Given the description of an element on the screen output the (x, y) to click on. 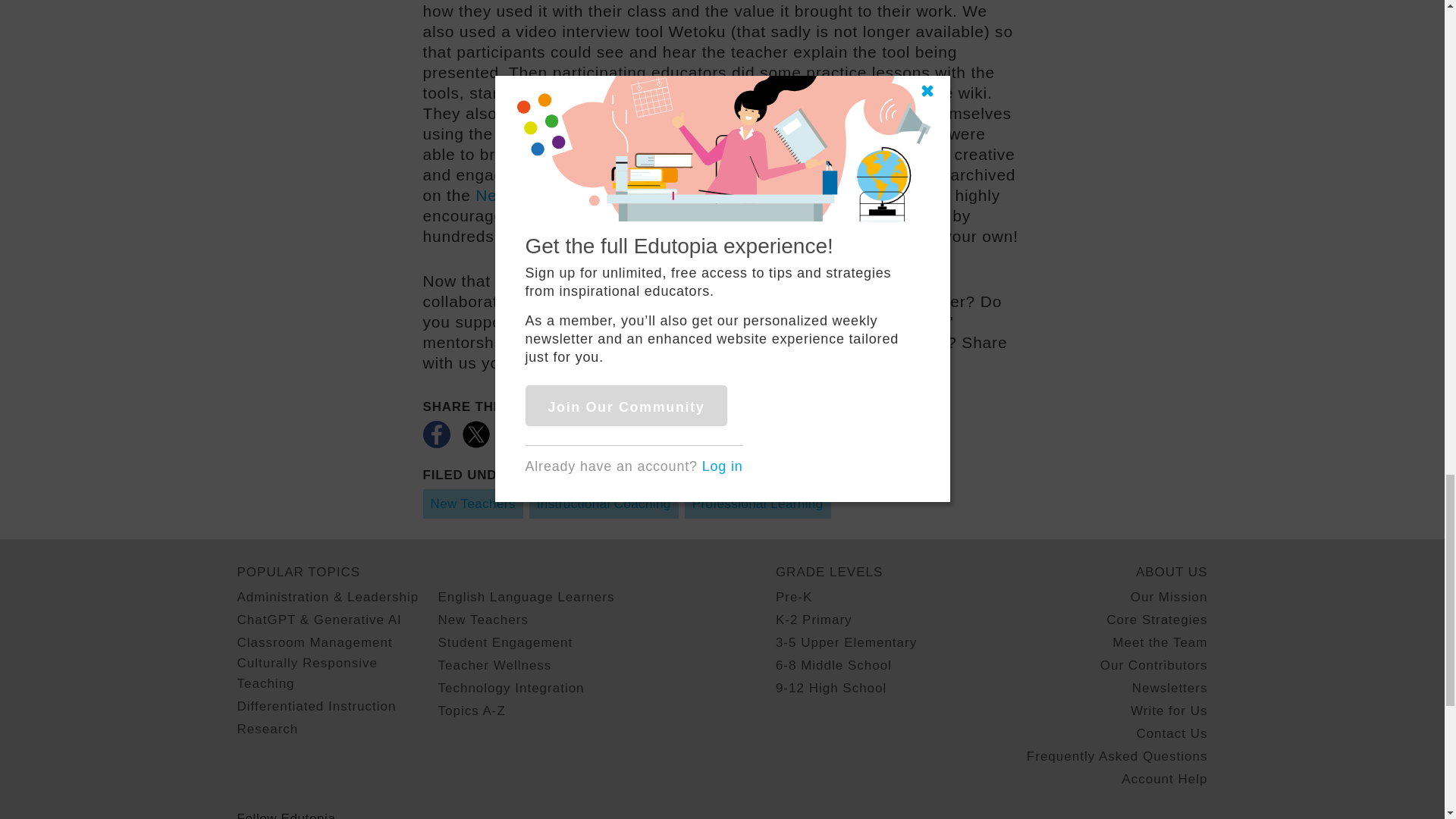
New Teacher Boot Camp (570, 194)
Classroom Management (313, 642)
ISTE12 (821, 362)
Culturally Responsive Teaching (336, 672)
Professional Learning (757, 503)
Instructional Coaching (603, 503)
Differentiated Instruction (315, 706)
New Teachers (472, 503)
